Given the description of an element on the screen output the (x, y) to click on. 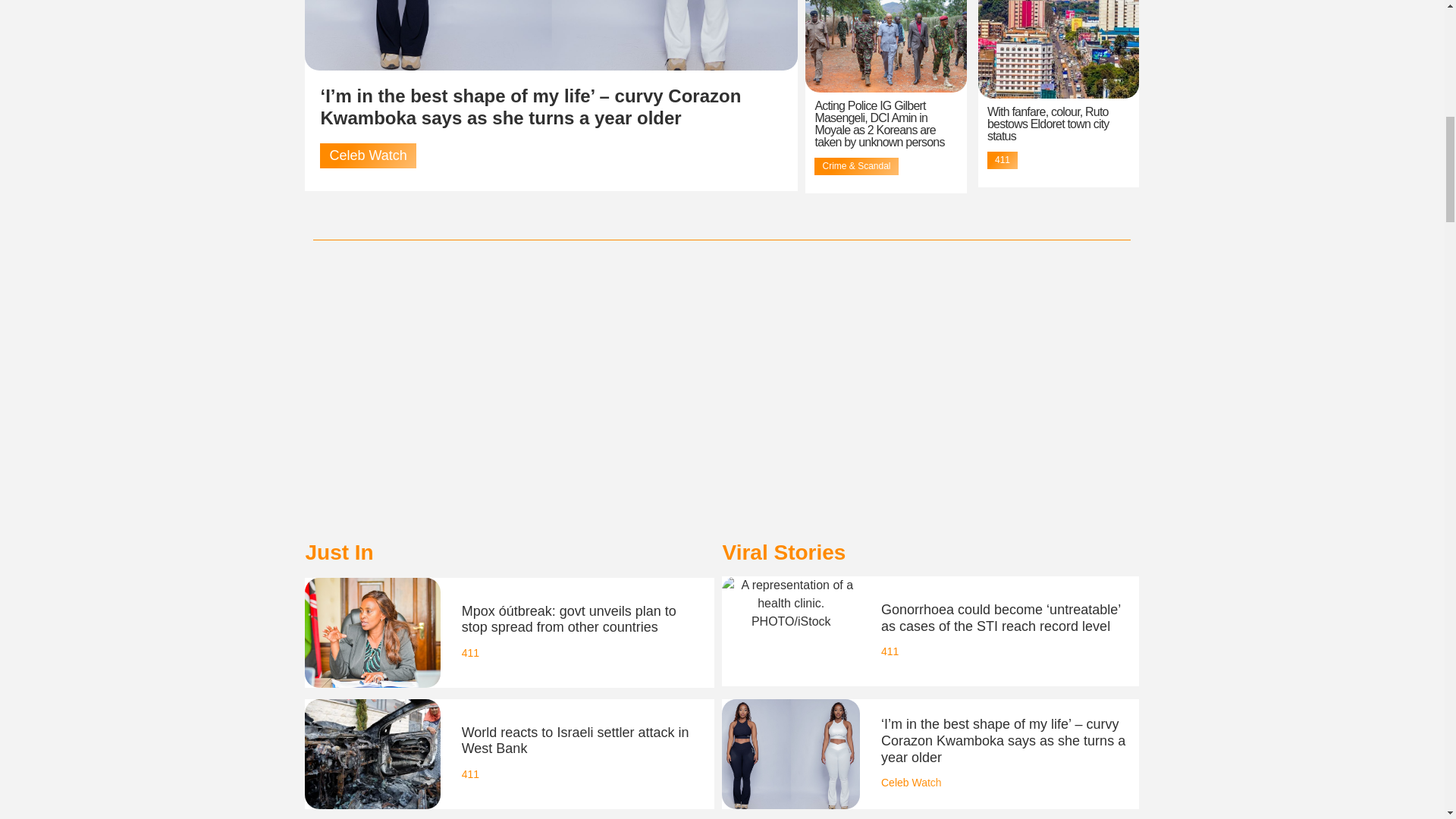
With fanfare, colour, Ruto bestows Eldoret town city status (1048, 123)
World reacts to Israeli settler attack in West Bank (574, 740)
